Given the description of an element on the screen output the (x, y) to click on. 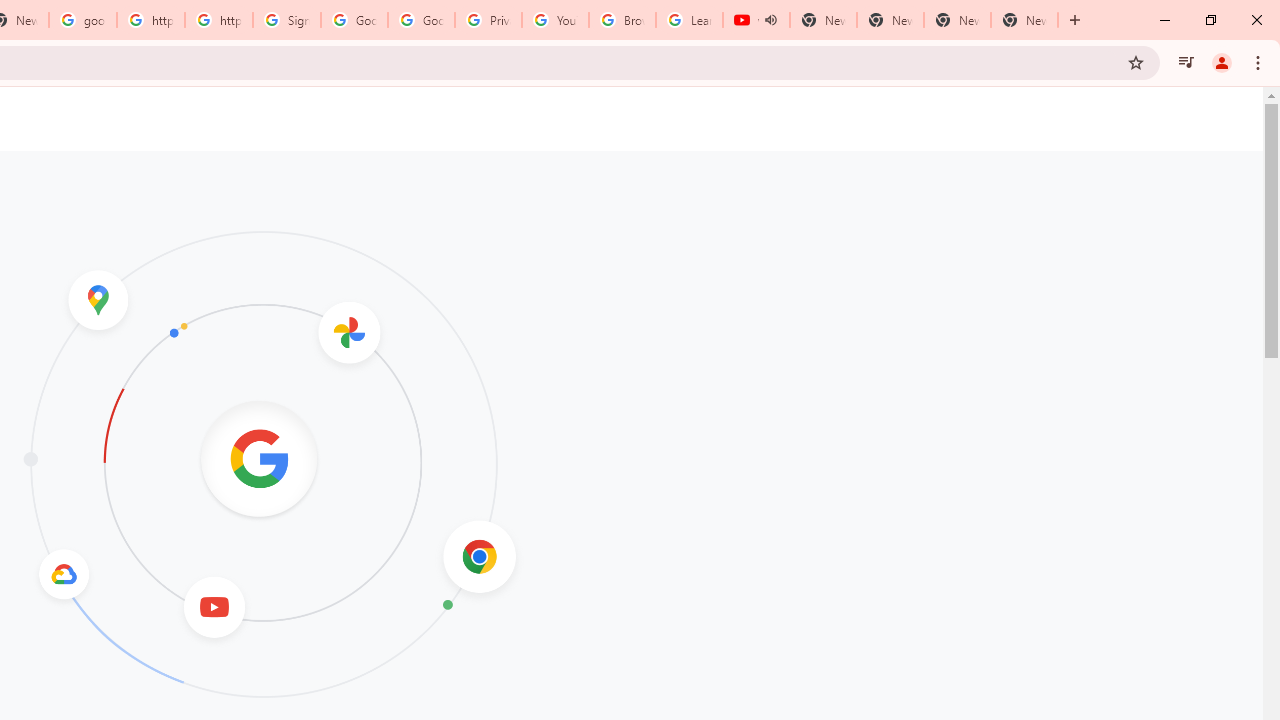
https://scholar.google.com/ (150, 20)
YouTube (555, 20)
